Given the description of an element on the screen output the (x, y) to click on. 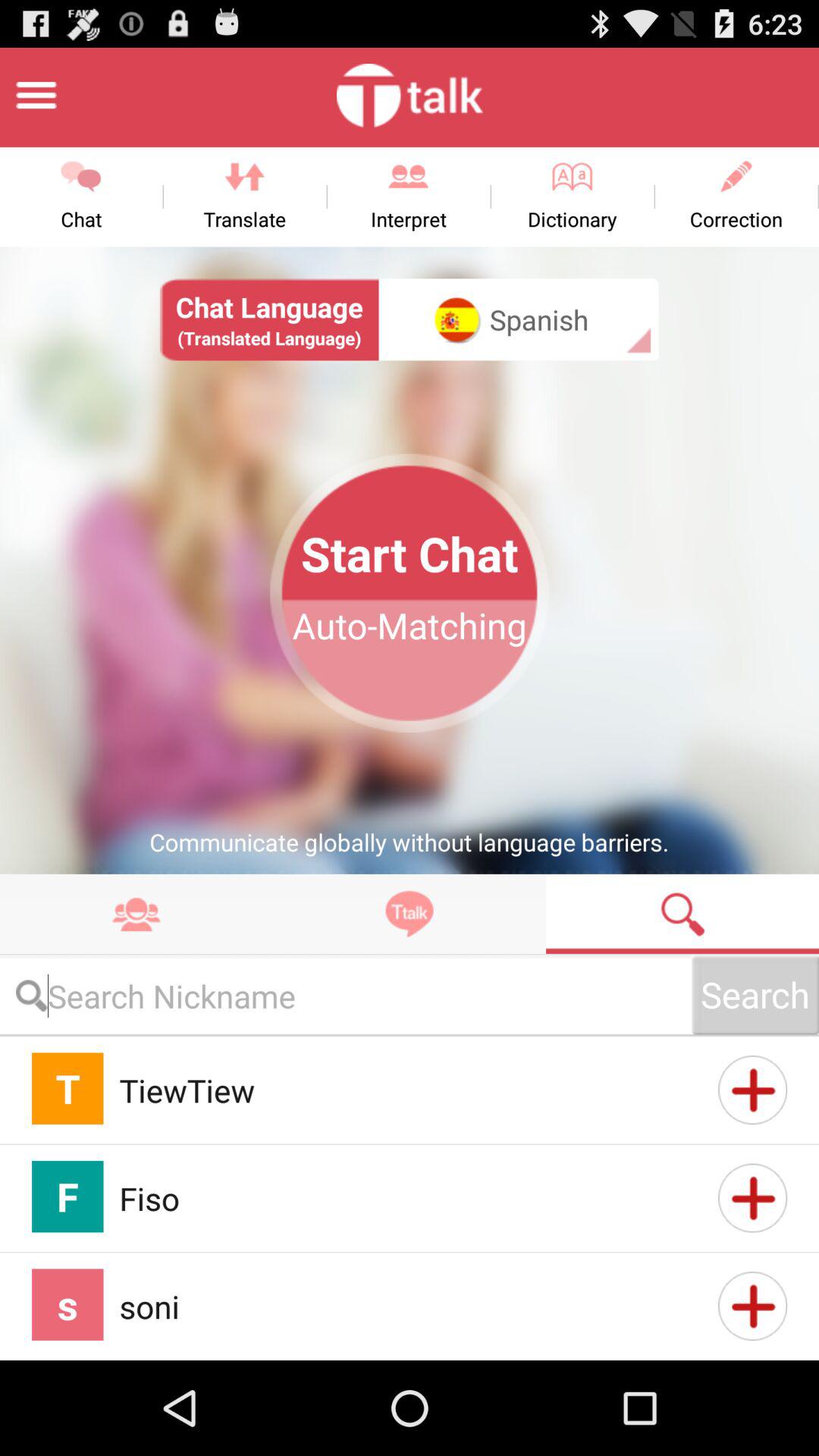
add fiso (752, 1197)
